Given the description of an element on the screen output the (x, y) to click on. 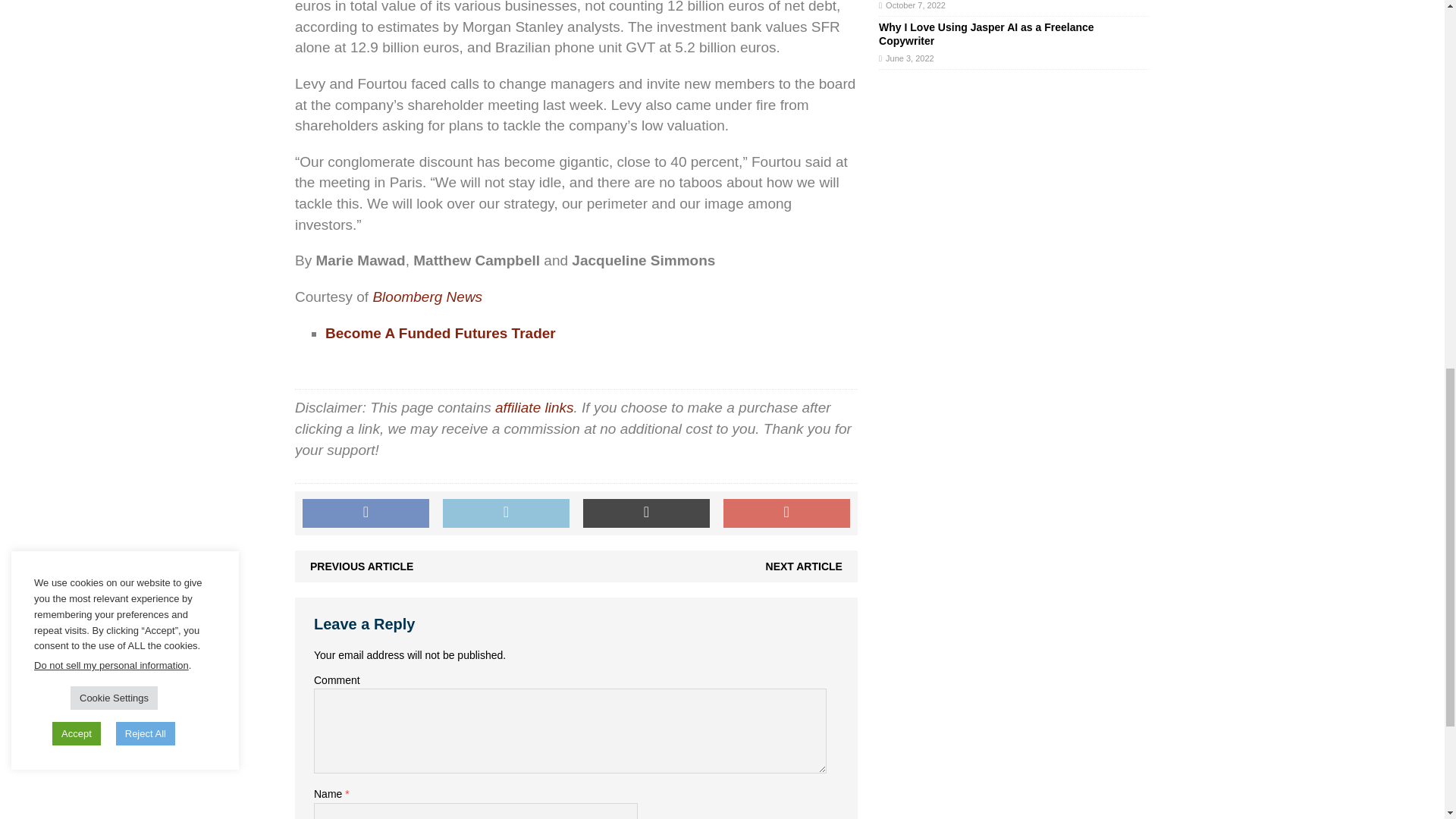
Share on Facebook (365, 512)
Tweet This Post (505, 512)
Share on Reddit (646, 512)
Bloomberg News (426, 296)
